Given the description of an element on the screen output the (x, y) to click on. 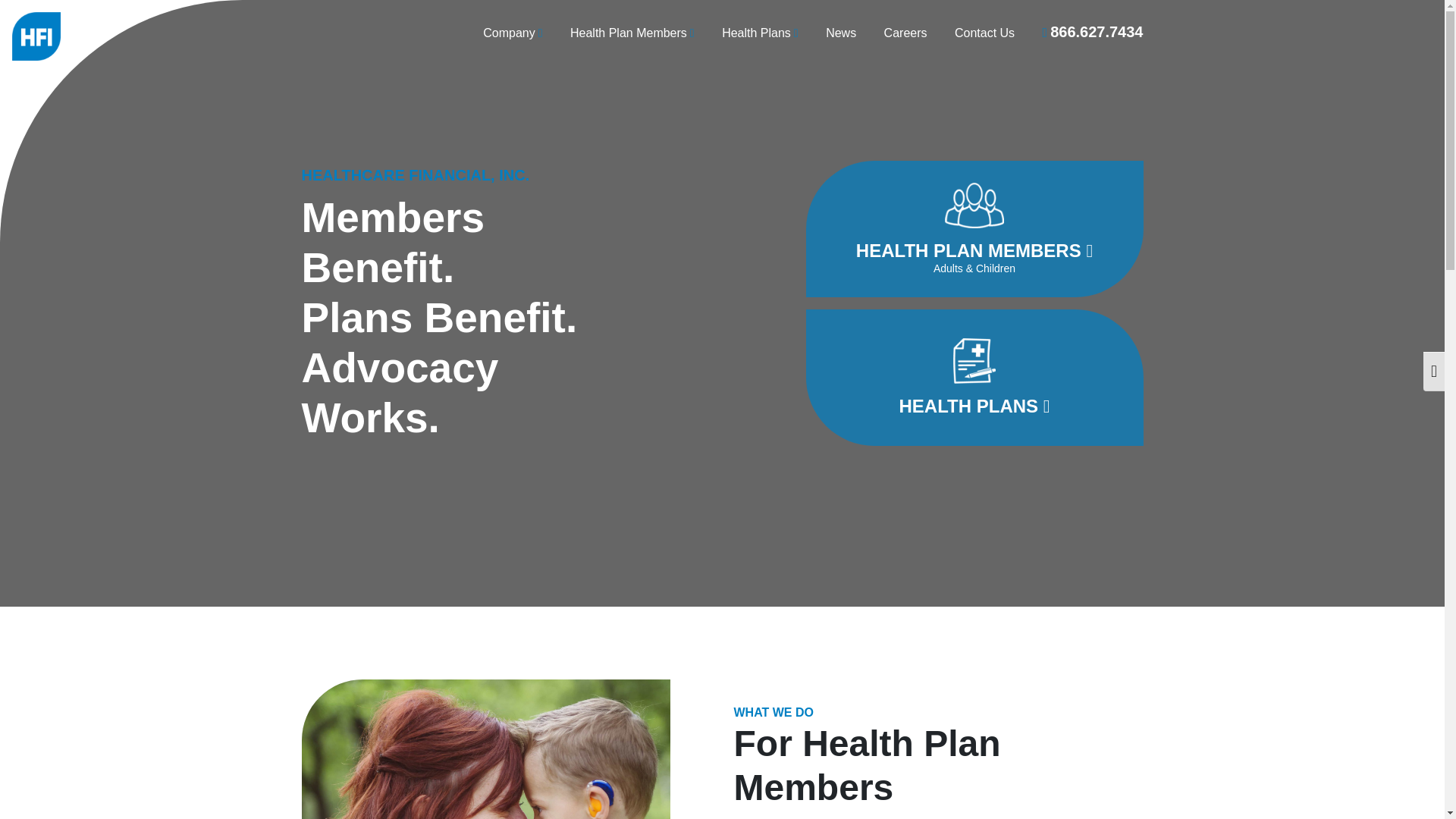
866.627.7434 (1092, 31)
HEALTH PLANS (973, 377)
Health Plans (760, 33)
Careers (905, 33)
Health Plan Members (631, 33)
News (840, 33)
Company (512, 33)
Contact Us (984, 33)
